Given the description of an element on the screen output the (x, y) to click on. 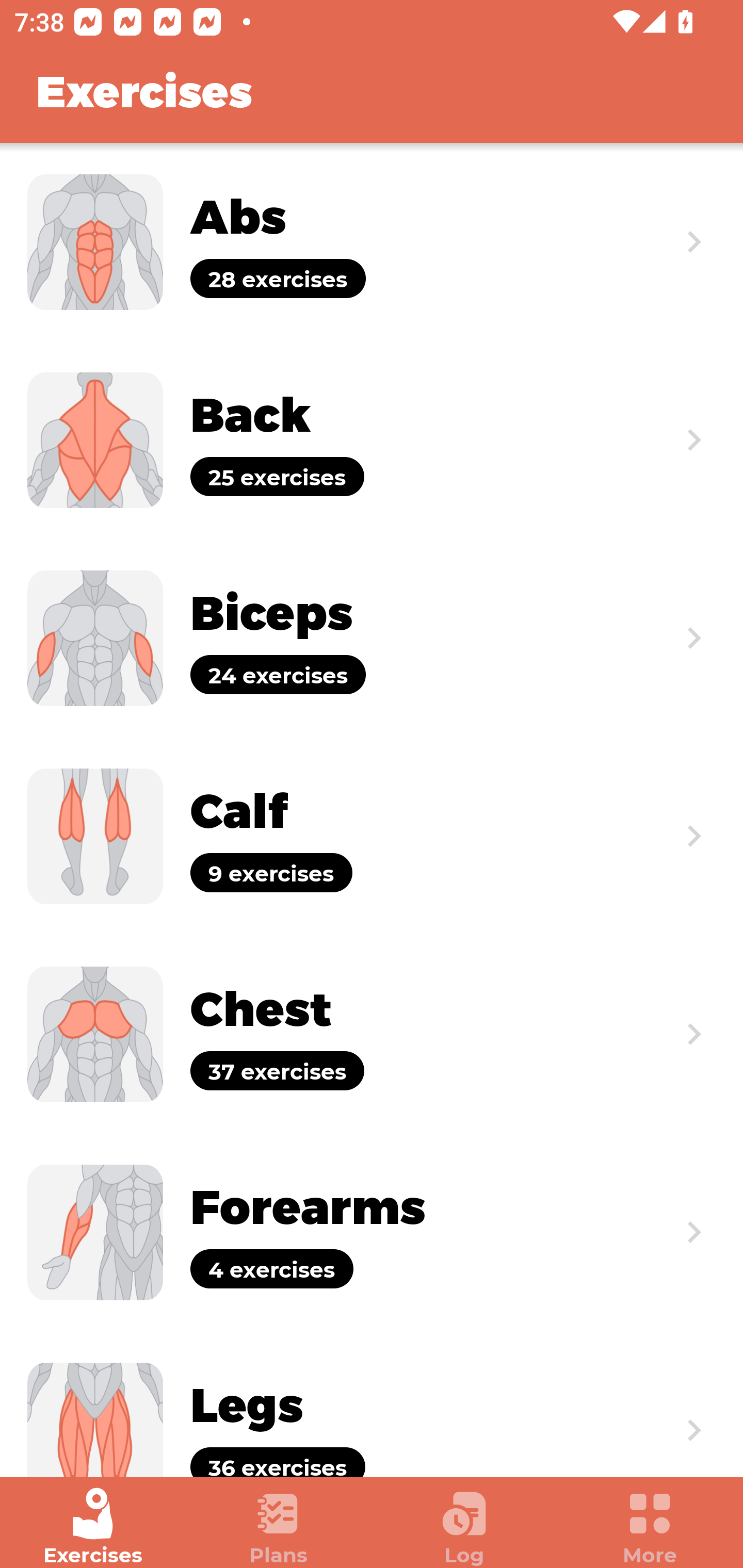
Exercise Abs 28 exercises (371, 241)
Exercise Back 25 exercises (371, 439)
Exercise Biceps 24 exercises (371, 637)
Exercise Calf 9 exercises (371, 836)
Exercise Chest 37 exercises (371, 1033)
Exercise Forearms 4 exercises (371, 1232)
Exercise Legs 36 exercises (371, 1404)
Exercises (92, 1527)
Plans (278, 1527)
Log (464, 1527)
More (650, 1527)
